Given the description of an element on the screen output the (x, y) to click on. 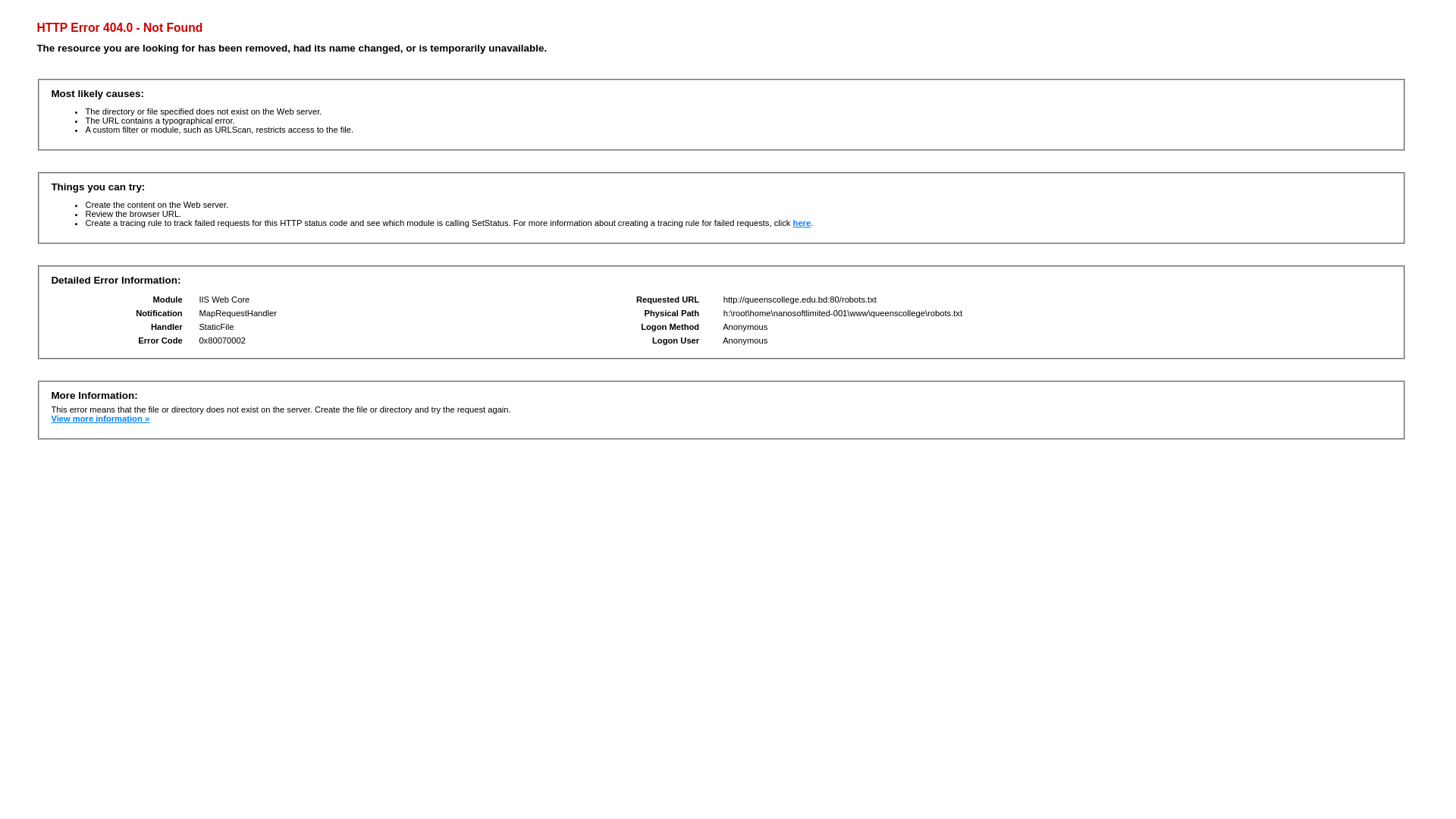
here Element type: text (802, 222)
